Given the description of an element on the screen output the (x, y) to click on. 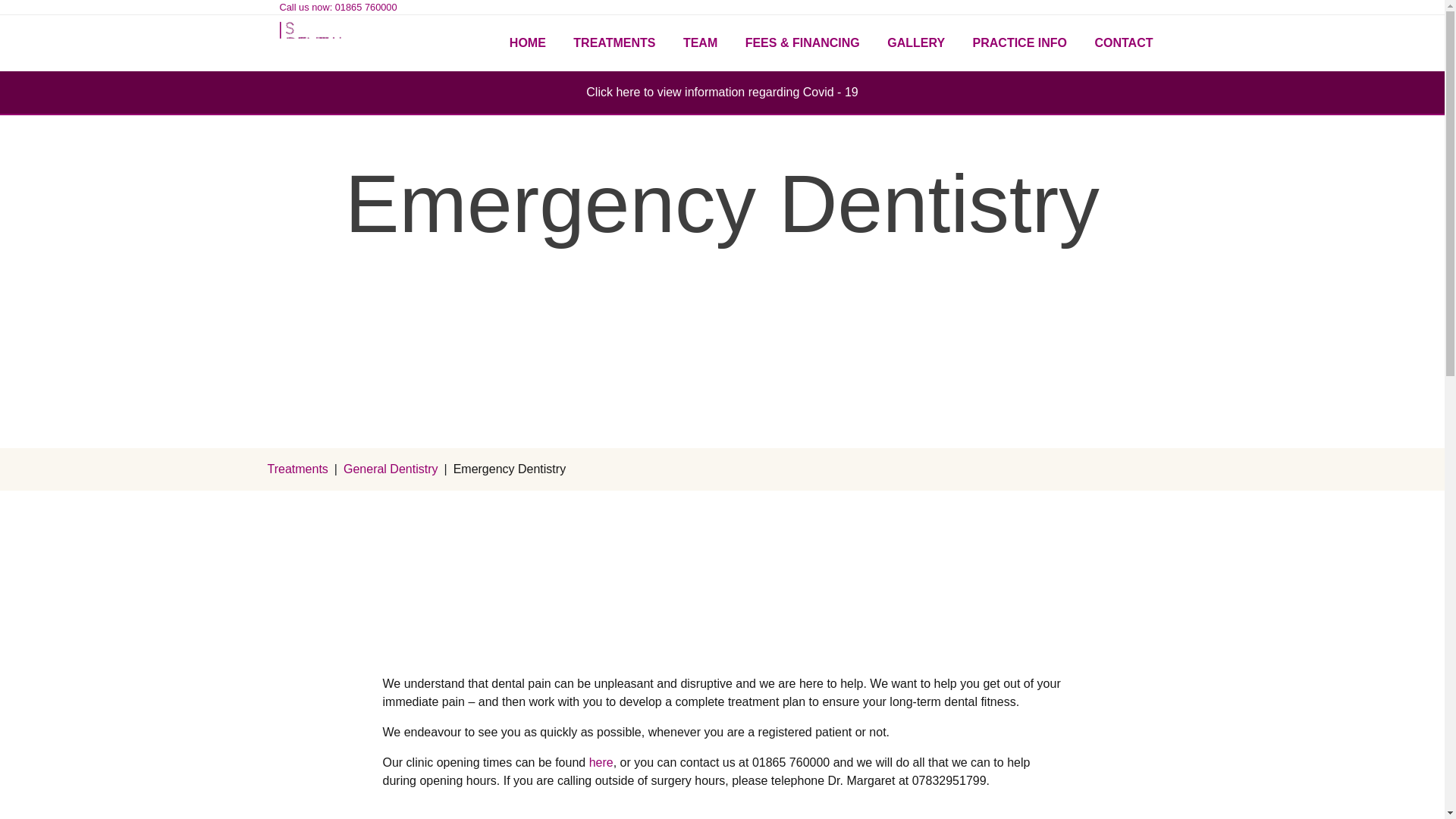
Treatments (296, 468)
here (600, 762)
PRACTICE INFO (1019, 43)
GALLERY (915, 43)
Home (315, 43)
CONTACT (1122, 43)
TREATMENTS (613, 43)
Click here to view information regarding Covid - 19 (721, 91)
HOME (527, 43)
General Dentistry (390, 468)
TEAM (700, 43)
Call us now: 01865 760000 (337, 7)
